Given the description of an element on the screen output the (x, y) to click on. 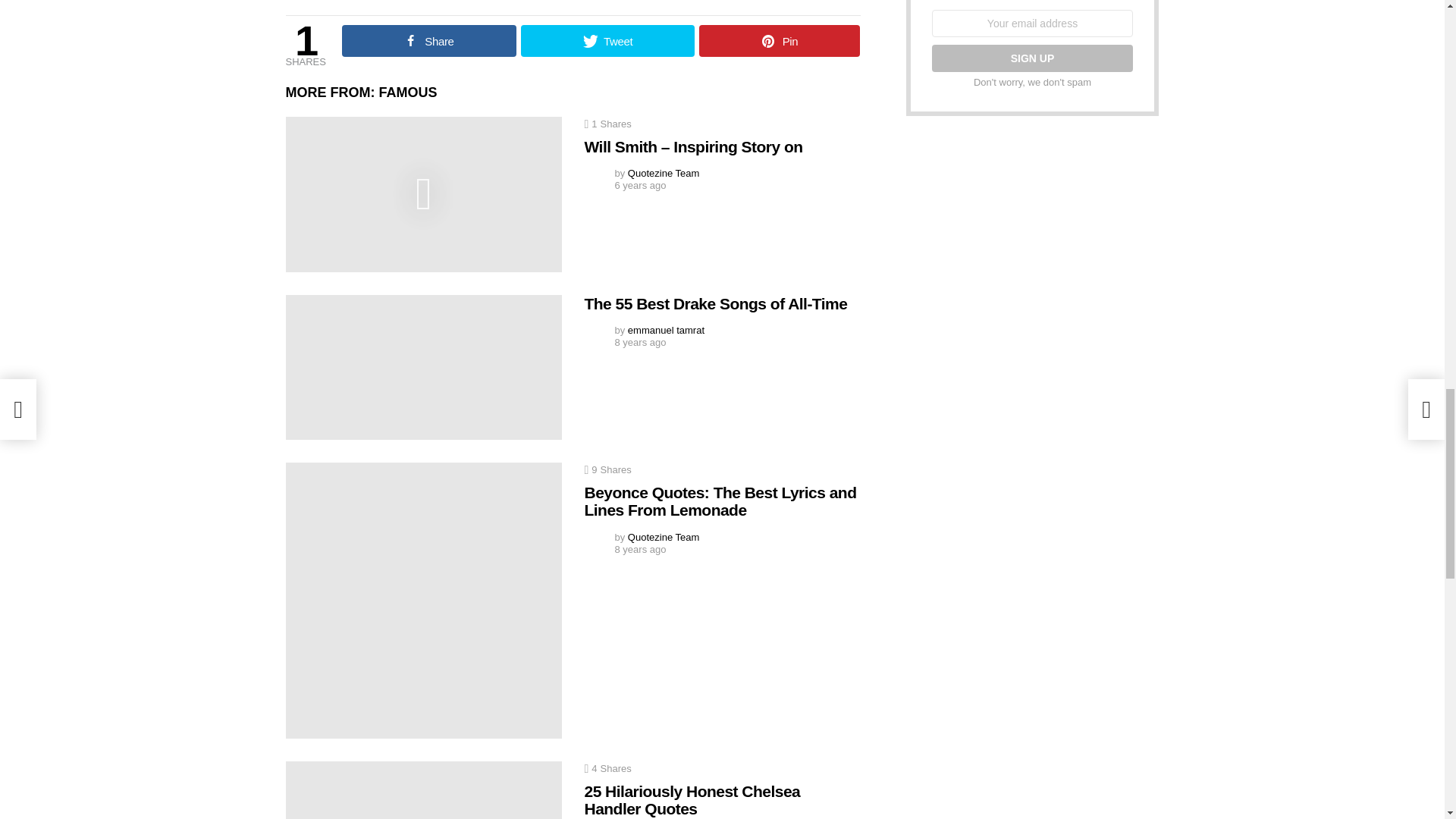
25 Hilariously Honest Chelsea Handler Quotes (422, 790)
Posts by Quotezine Team (662, 173)
April 24, 2016, 10:32 pm (639, 549)
The 55 Best Drake Songs of All-Time (422, 366)
April 5, 2018, 5:39 pm (639, 185)
Posts by emmanuel tamrat (665, 329)
July 8, 2016, 8:54 am (639, 342)
Posts by Quotezine Team (662, 536)
Sign up (1031, 58)
Beyonce Quotes: The Best Lyrics and Lines From Lemonade (422, 600)
